Given the description of an element on the screen output the (x, y) to click on. 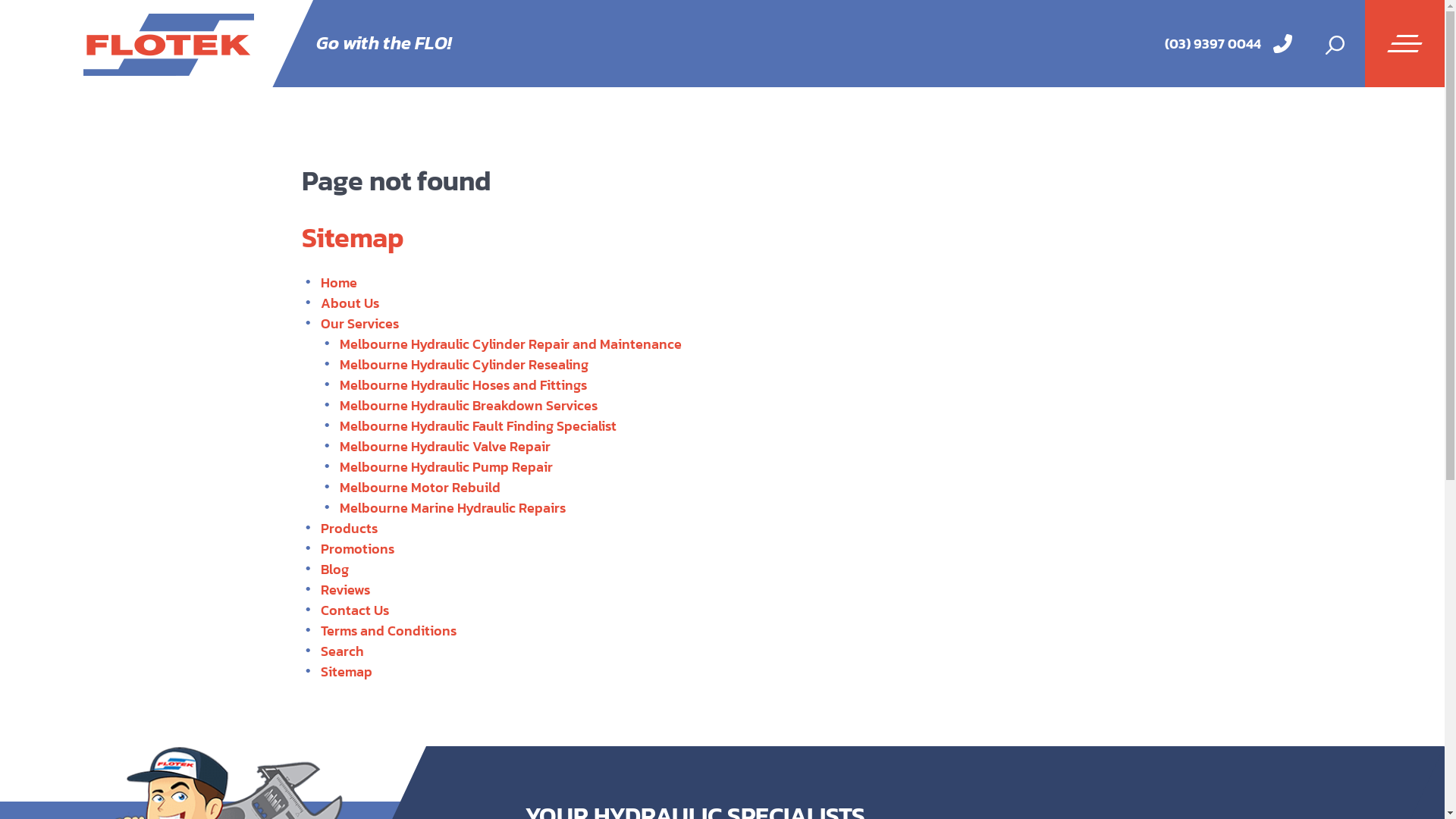
Terms and Conditions Element type: text (387, 630)
Melbourne Hydraulic Breakdown Services Element type: text (468, 405)
Melbourne Motor Rebuild Element type: text (419, 486)
Melbourne Hydraulic Valve Repair Element type: text (444, 446)
Melbourne Marine Hydraulic Repairs Element type: text (452, 507)
Reviews Element type: text (344, 589)
Home Element type: text (338, 282)
Blog Element type: text (334, 568)
About Us Element type: text (349, 302)
Melbourne Hydraulic Cylinder Repair and Maintenance Element type: text (510, 343)
Contact Us Element type: text (354, 609)
Search Element type: text (341, 650)
Melbourne Hydraulic Pump Repair Element type: text (445, 466)
Melbourne Hydraulic Fault Finding Specialist Element type: text (477, 425)
Sitemap Element type: text (345, 671)
Our Services Element type: text (359, 323)
Melbourne Hydraulic Cylinder Resealing Element type: text (463, 364)
Melbourne Hydraulic Hoses and Fittings Element type: text (462, 384)
(03) 9397 0044 Element type: text (1212, 43)
Products Element type: text (348, 527)
Promotions Element type: text (356, 548)
